Given the description of an element on the screen output the (x, y) to click on. 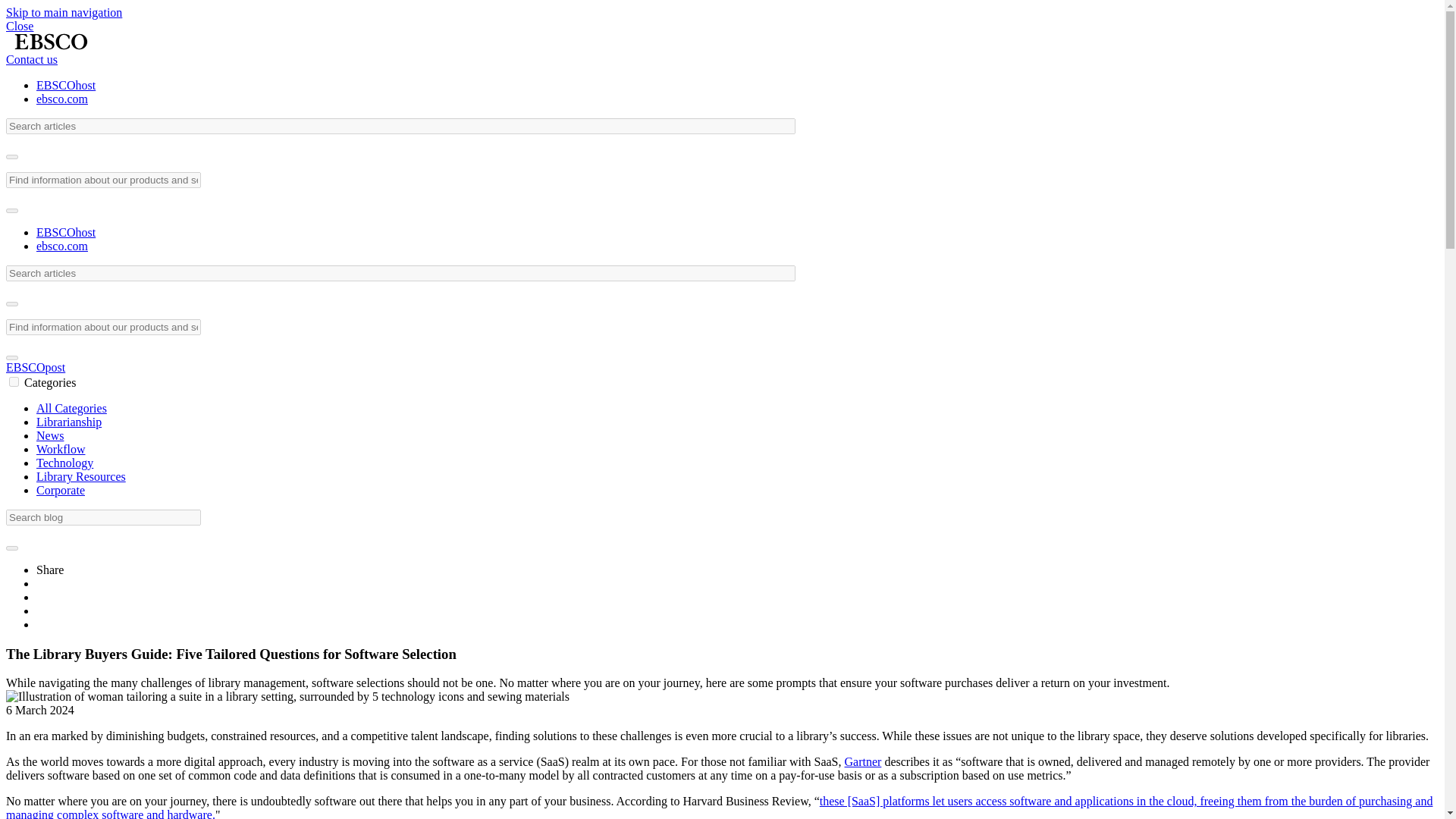
Librarianship (68, 421)
All Categories (71, 408)
Gartner (863, 761)
Technology (64, 462)
Workflow (60, 449)
Search (11, 357)
Contact us (31, 59)
Search (11, 156)
EBSCO, research databases, ebooks, discovery service (50, 45)
News (50, 435)
on (13, 381)
ebsco.com (61, 98)
ebsco.com (61, 245)
EBSCO, research databases, ebooks, discovery service (50, 41)
Corporate (60, 490)
